Given the description of an element on the screen output the (x, y) to click on. 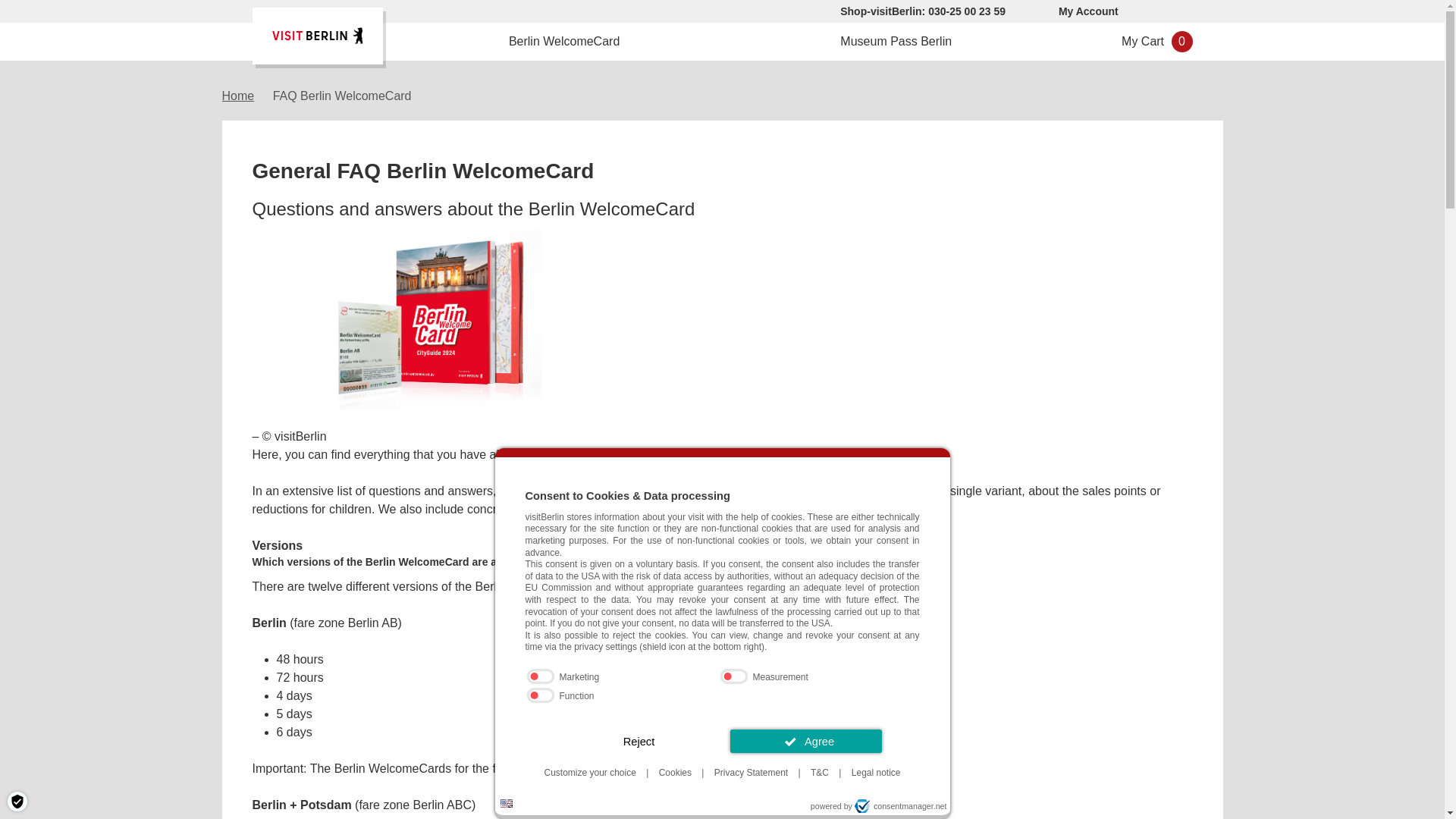
Language: en (506, 803)
Reject (638, 740)
Agree (804, 740)
My Cart 0 (1142, 41)
Customize your choice (589, 772)
Language: en (506, 803)
My Account (1087, 11)
Shop-visitBerlin: 030-25 00 23 59 (921, 11)
Museum Pass Berlin (896, 41)
Berlin WelcomeCard (563, 41)
Purpose (721, 687)
Privacy Statement (750, 772)
Legal notice (876, 772)
Home (237, 95)
Cookies (674, 772)
